Given the description of an element on the screen output the (x, y) to click on. 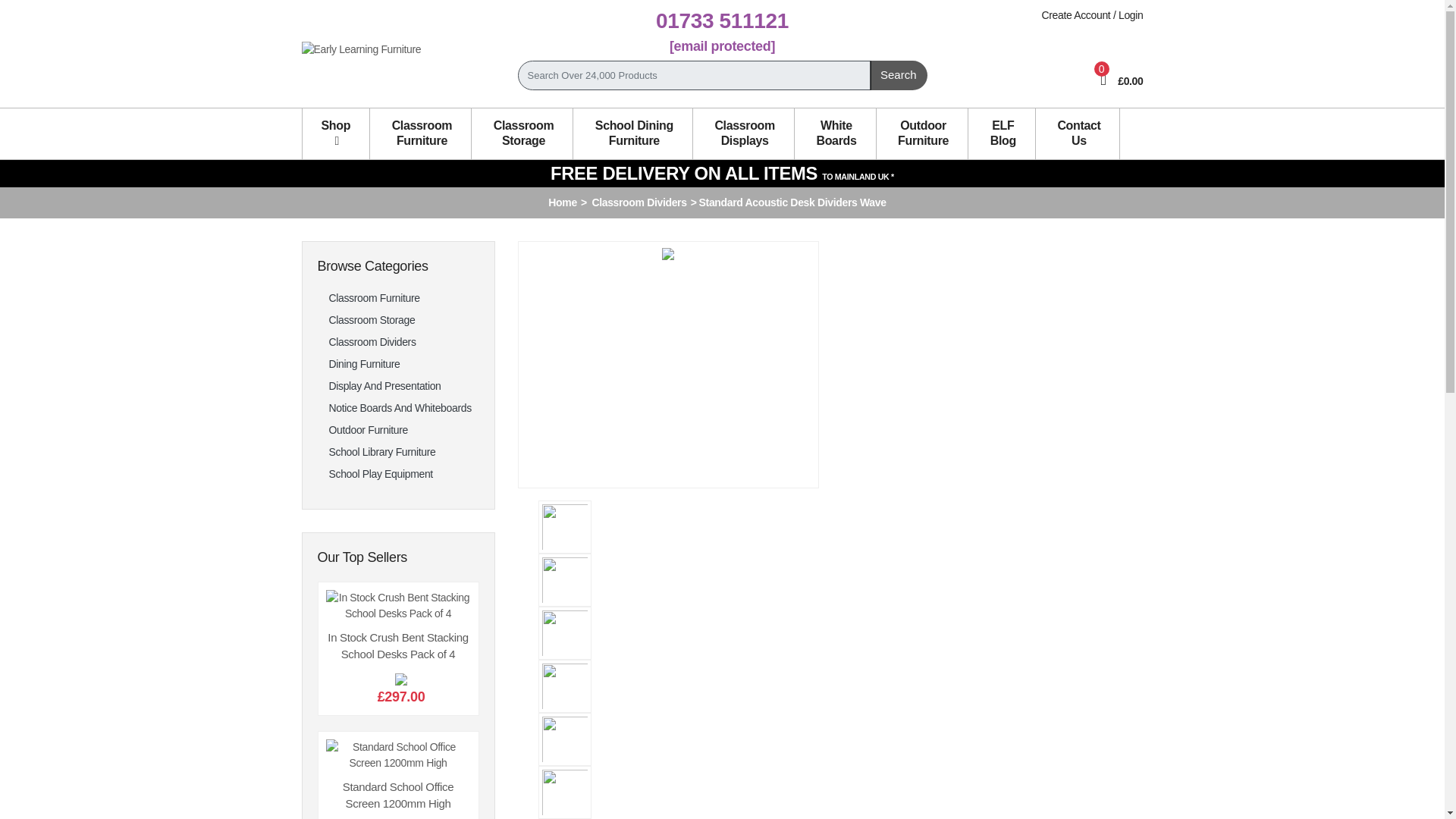
Shop (335, 133)
Early Learning Furniture (361, 49)
Search (898, 75)
Search (898, 75)
